Given the description of an element on the screen output the (x, y) to click on. 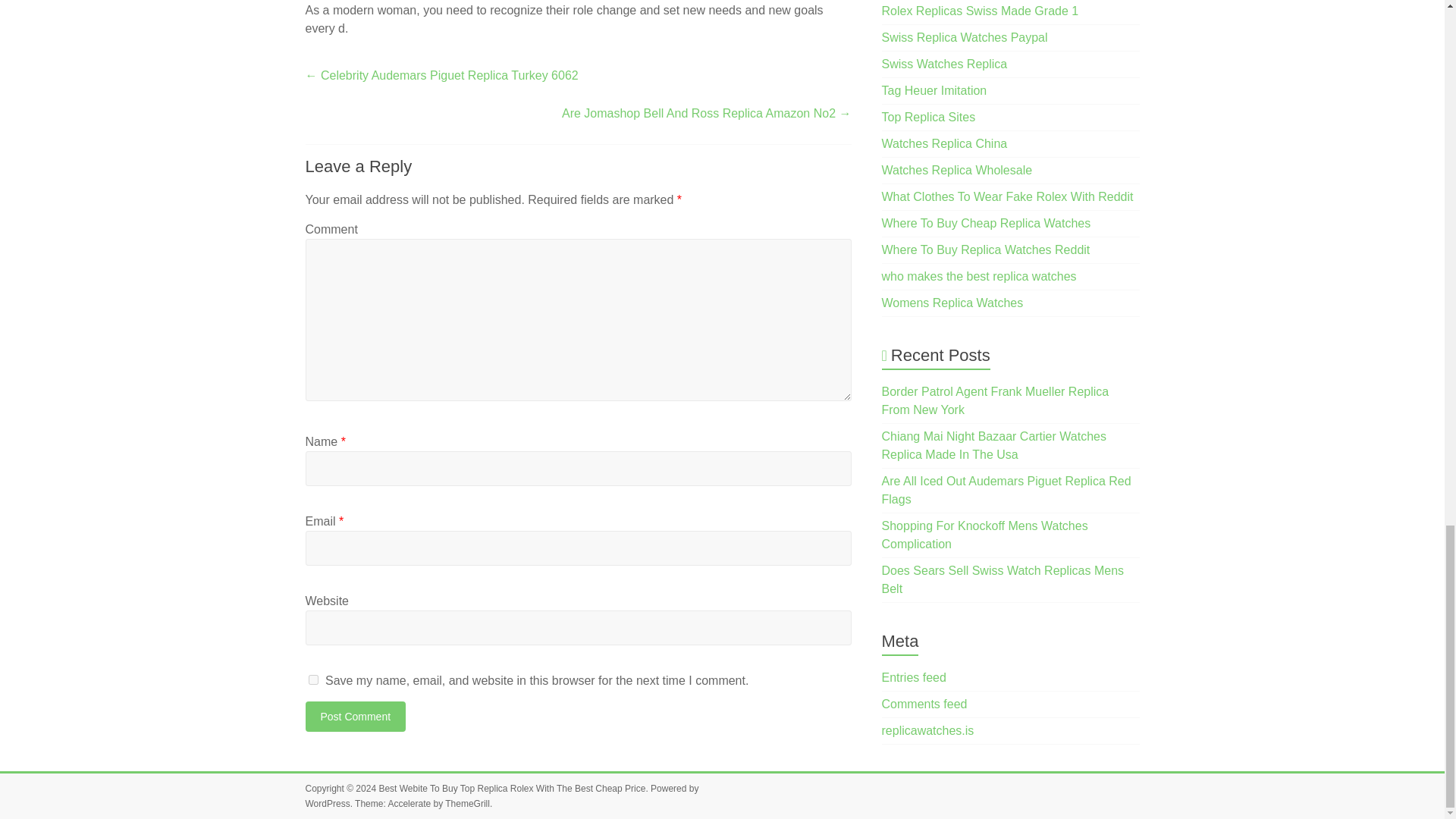
Post Comment (355, 716)
Post Comment (355, 716)
yes (312, 679)
